Given the description of an element on the screen output the (x, y) to click on. 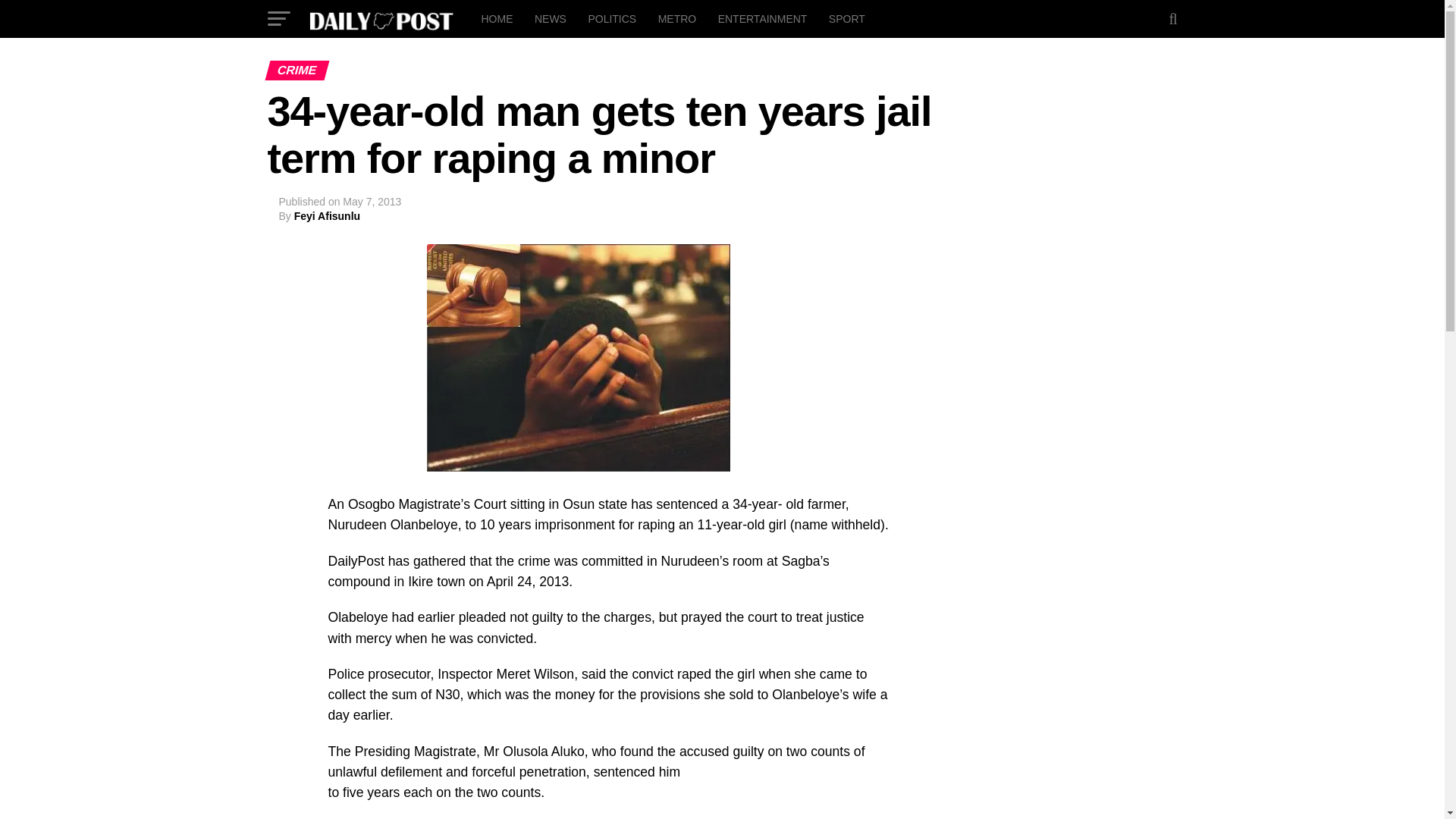
Posts by Feyi Afisunlu (326, 215)
NEWS (550, 18)
HOME (496, 18)
Feyi Afisunlu (326, 215)
ENTERTAINMENT (762, 18)
METRO (677, 18)
SPORT (847, 18)
POLITICS (611, 18)
